Given the description of an element on the screen output the (x, y) to click on. 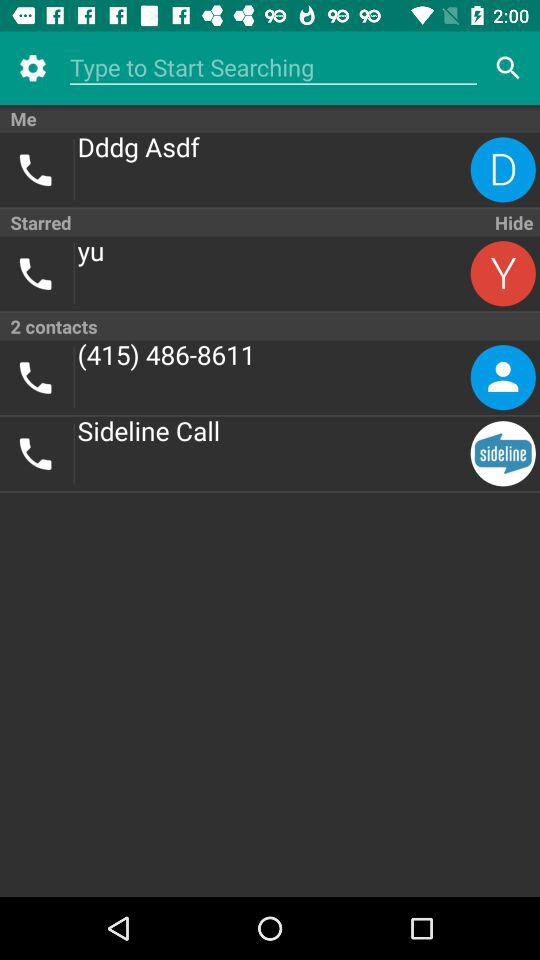
place cursor (273, 67)
